Given the description of an element on the screen output the (x, y) to click on. 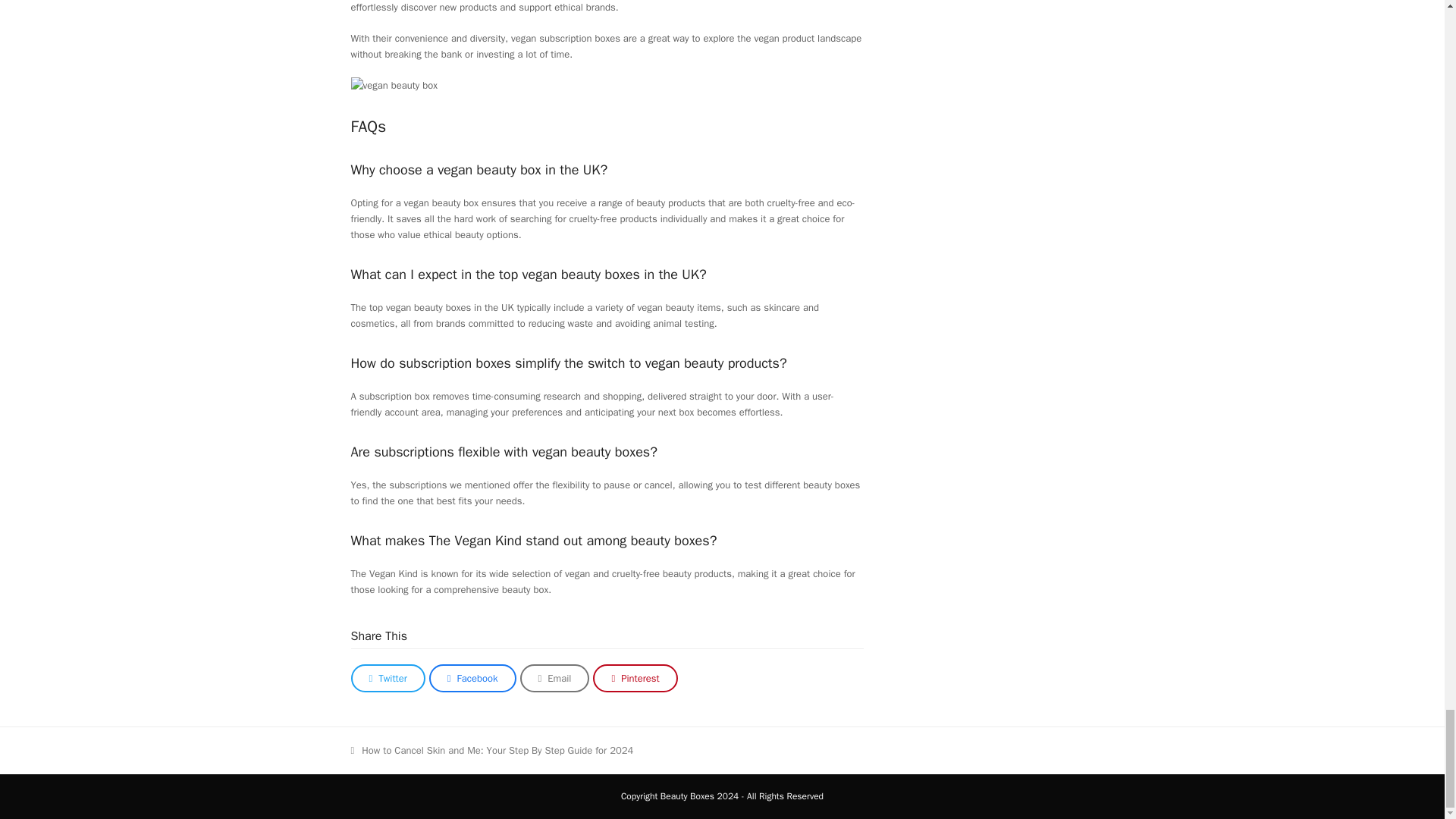
Facebook (472, 678)
Twitter (387, 678)
Email (554, 678)
Pinterest (634, 678)
Beauty Boxes (687, 796)
